Given the description of an element on the screen output the (x, y) to click on. 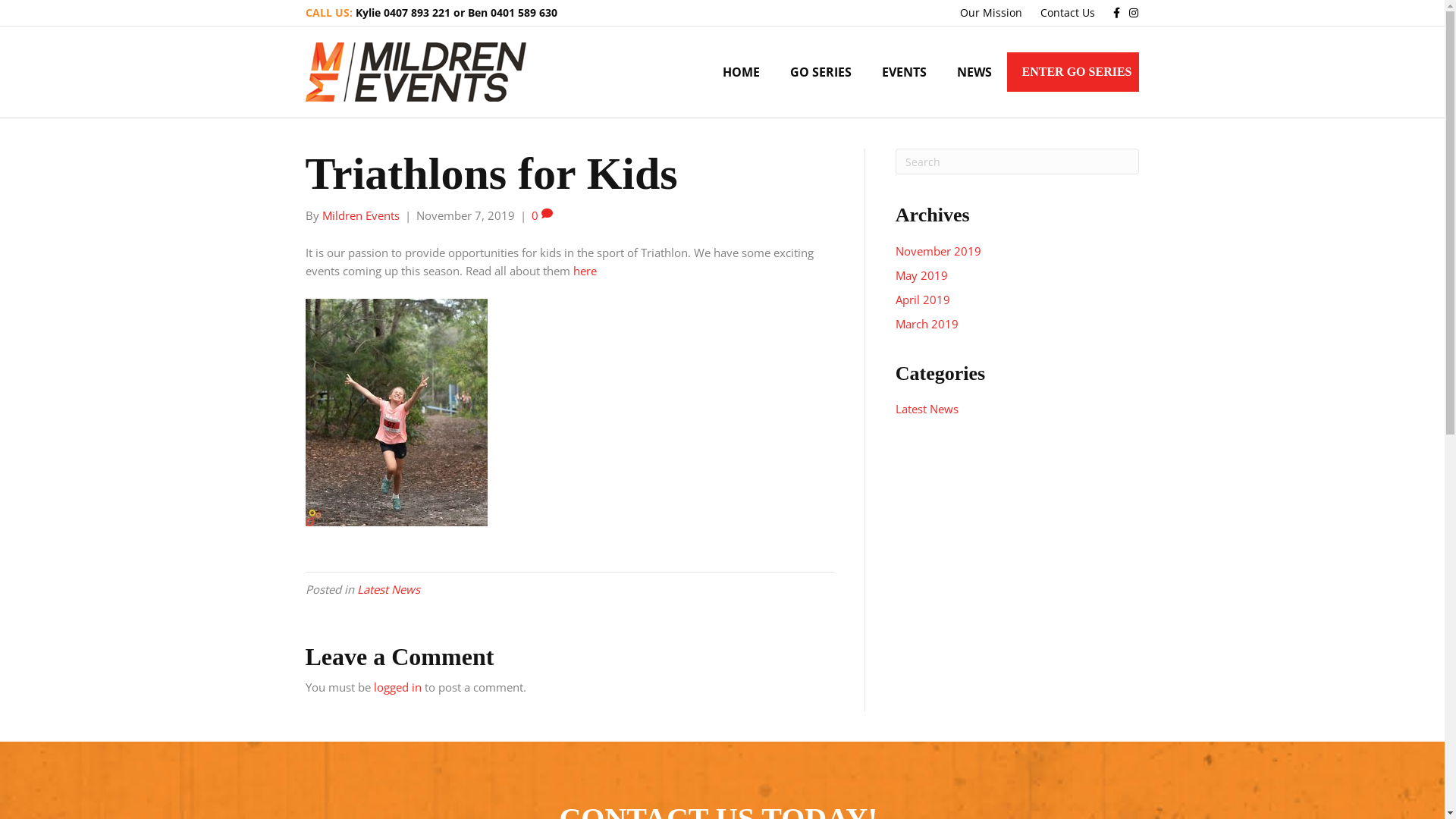
April 2019 Element type: text (922, 299)
GO SERIES Element type: text (820, 71)
Mildren Events Element type: text (359, 214)
November 2019 Element type: text (938, 250)
0 Element type: text (541, 214)
EVENTS Element type: text (903, 71)
Contact Us Element type: text (1067, 12)
Our Mission Element type: text (990, 12)
ENTER GO SERIES Element type: text (1073, 71)
May 2019 Element type: text (921, 274)
here Element type: text (584, 270)
HOME Element type: text (741, 71)
Type and press Enter to search. Element type: hover (1017, 161)
Latest News Element type: text (387, 588)
logged in Element type: text (396, 686)
NEWS Element type: text (974, 71)
Facebook Element type: text (1110, 11)
Instagram Element type: text (1128, 11)
March 2019 Element type: text (926, 323)
Latest News Element type: text (926, 408)
